Given the description of an element on the screen output the (x, y) to click on. 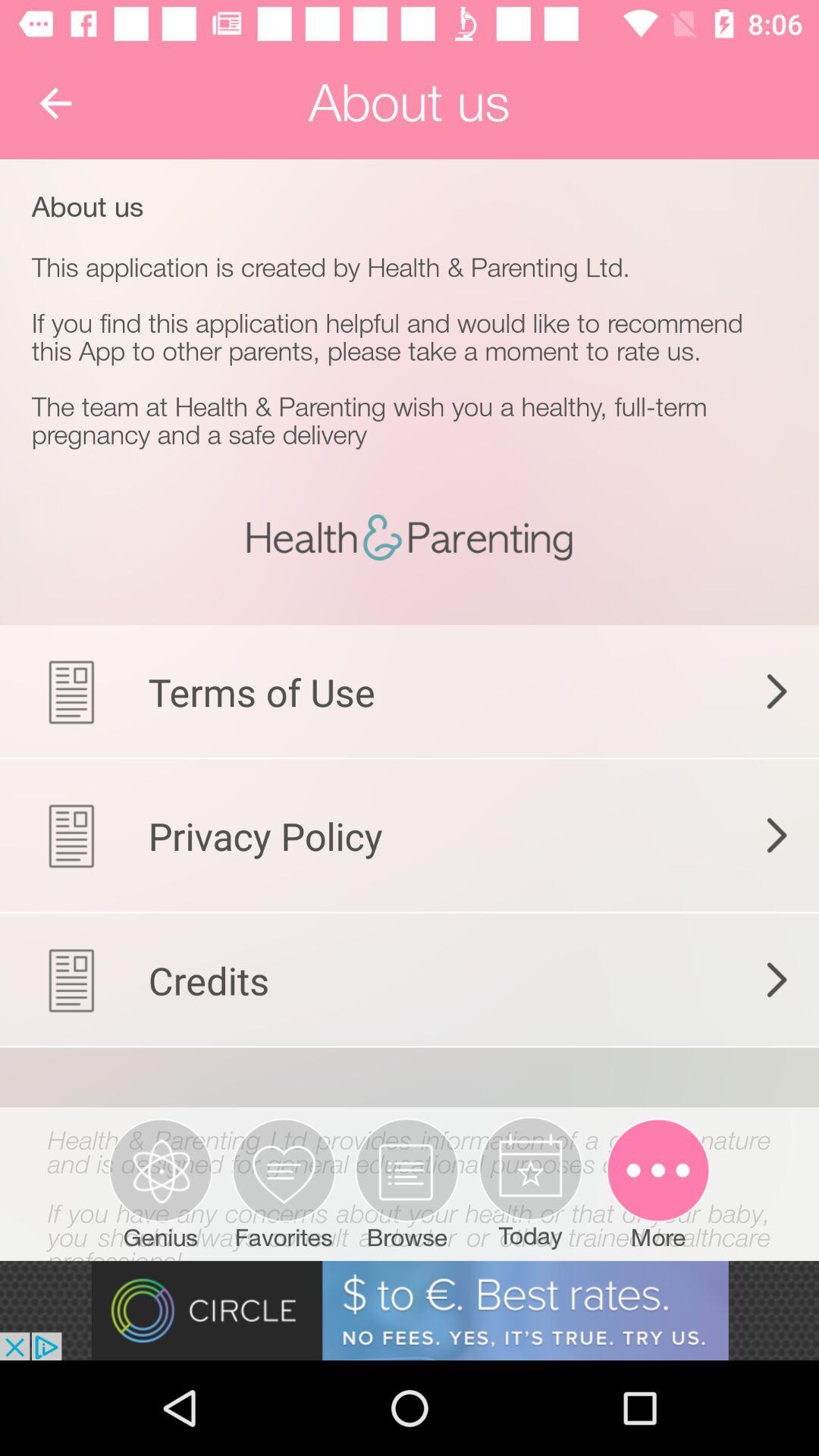
button page (409, 1163)
